Given the description of an element on the screen output the (x, y) to click on. 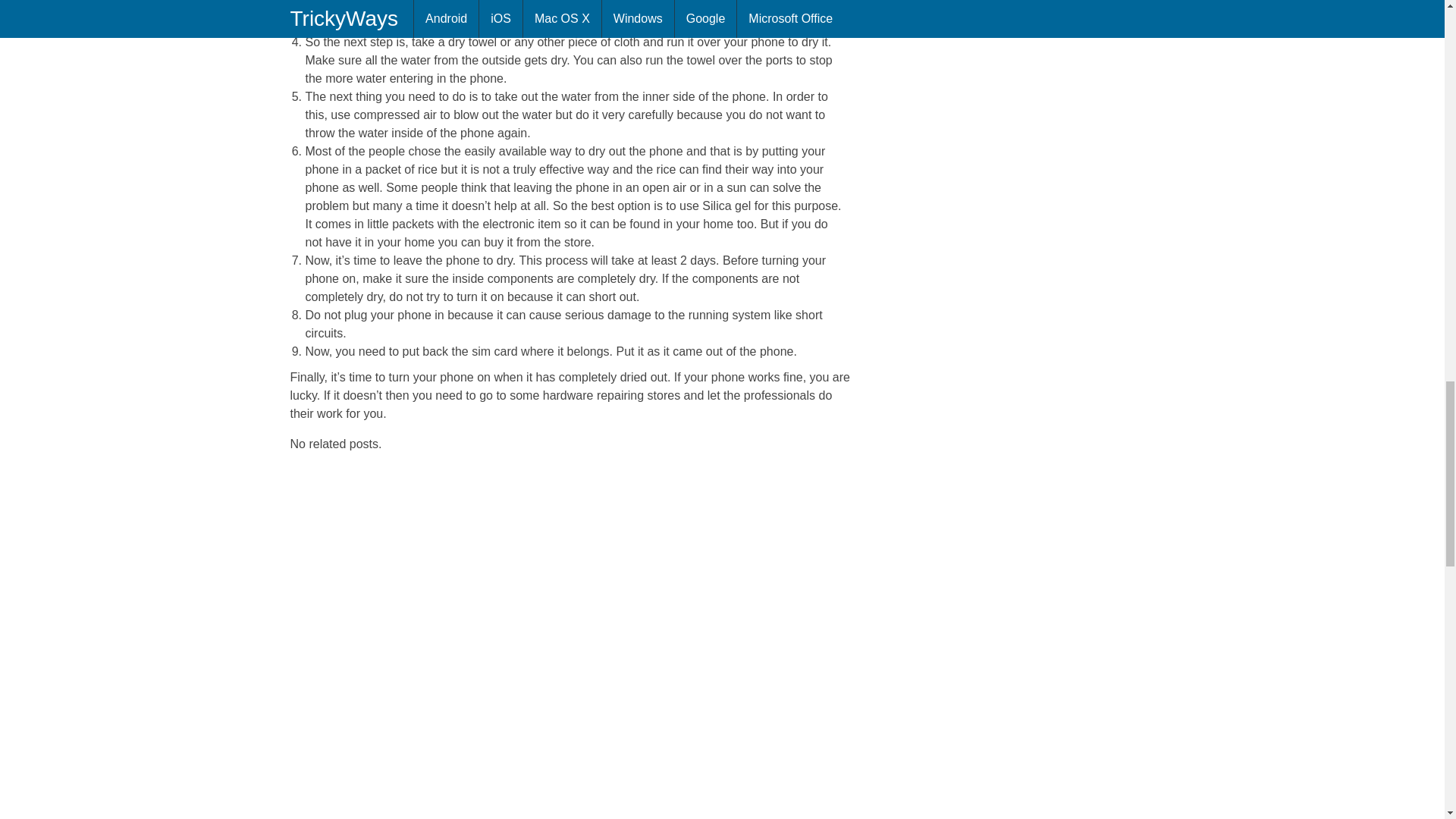
Advertisement (416, 816)
